Given the description of an element on the screen output the (x, y) to click on. 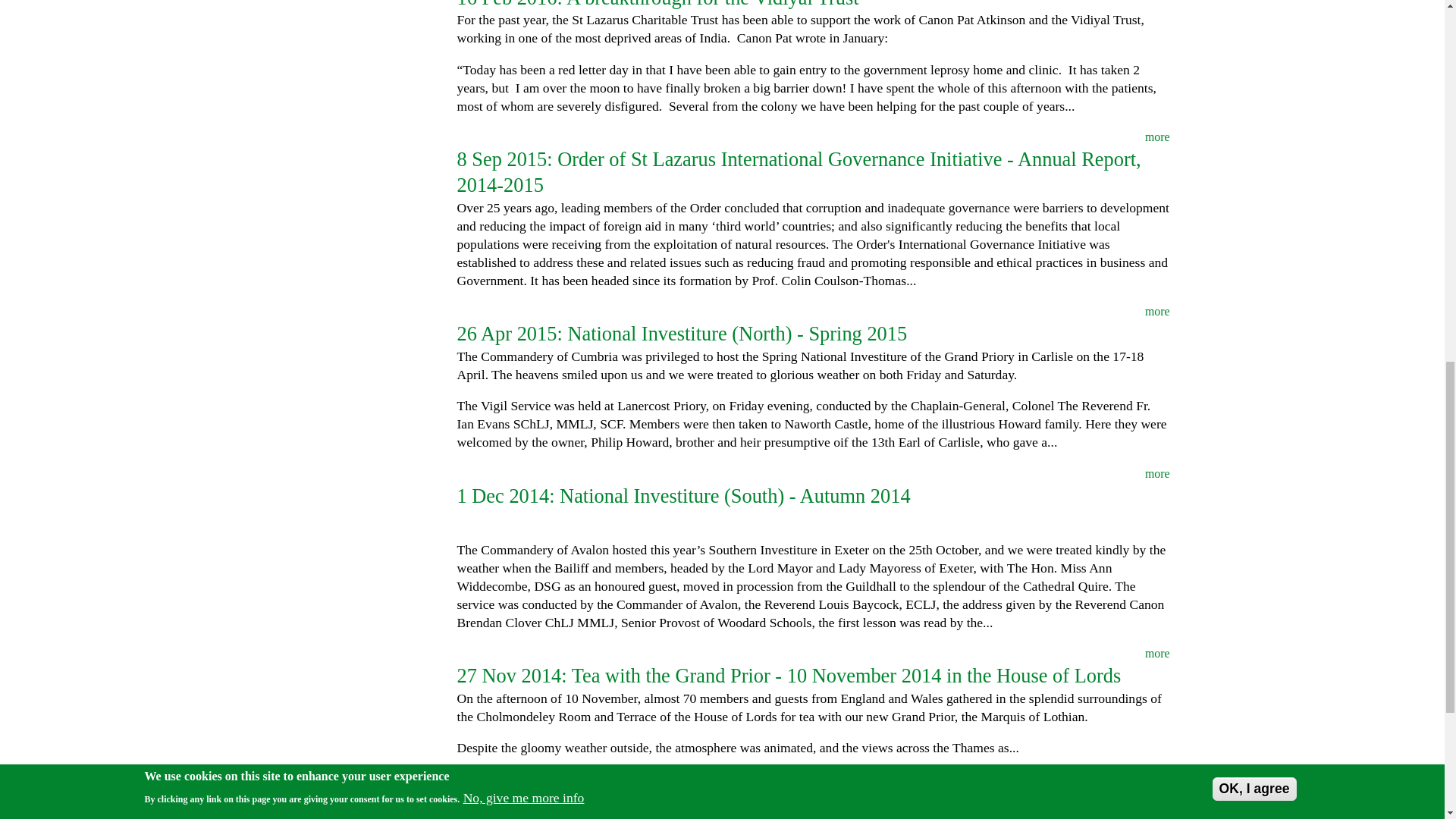
more (813, 779)
16 Feb 2016: A breakthrough for the Vidiyal Trust (658, 4)
more (813, 311)
21 Oct 2013: St Lazarus Flag to fly over Camp Bastion (677, 801)
more (813, 653)
more (813, 474)
more (813, 136)
